Given the description of an element on the screen output the (x, y) to click on. 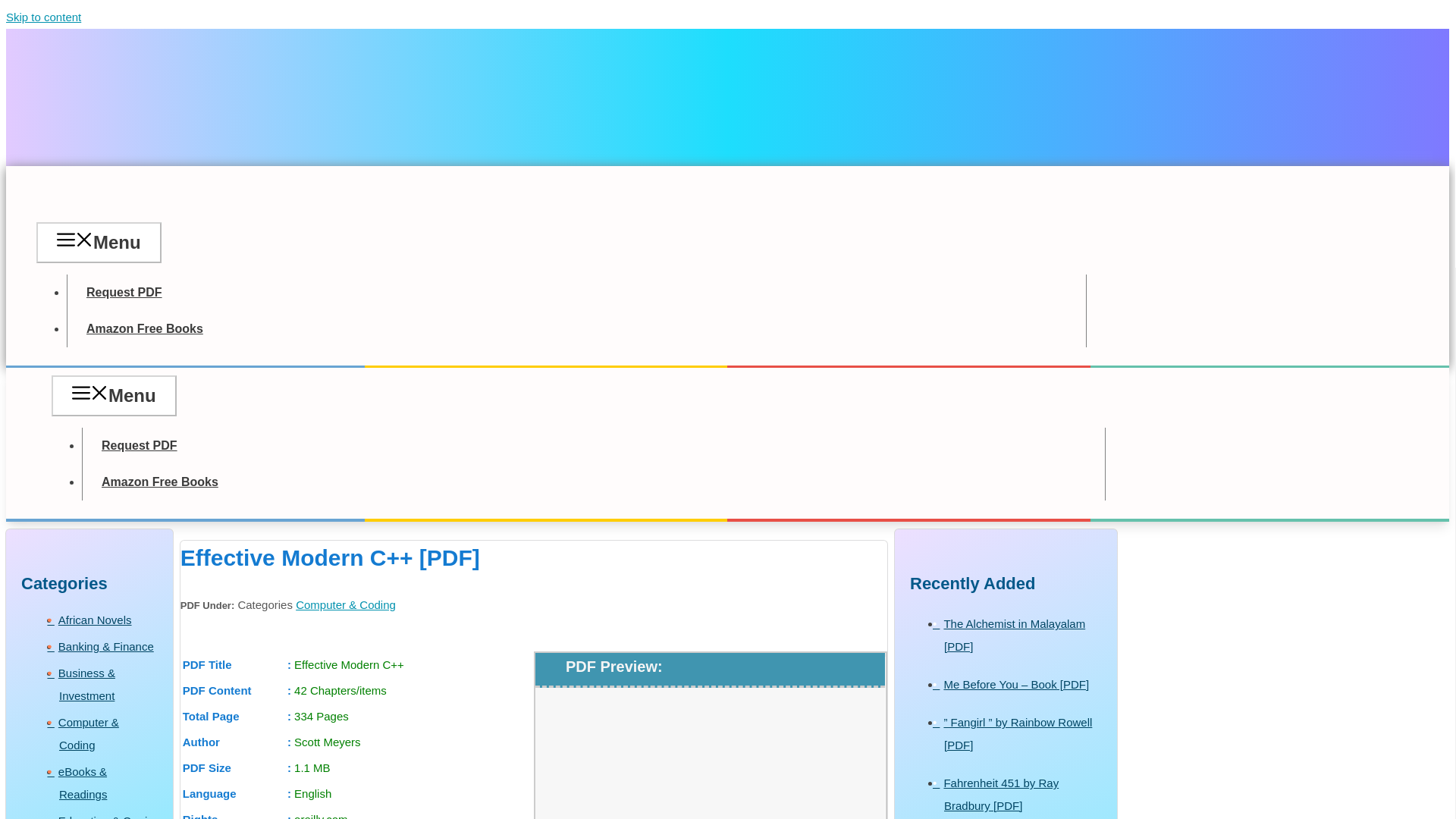
Menu (113, 394)
Amazon Free Books (159, 481)
Available Language (357, 793)
Skip to content (43, 16)
IndianPDF.com (134, 202)
Amazon Free Books (144, 327)
Request PDF (139, 444)
PDF Preview (710, 768)
PDF Book Rights (357, 813)
Pages in PDF (357, 716)
